Given the description of an element on the screen output the (x, y) to click on. 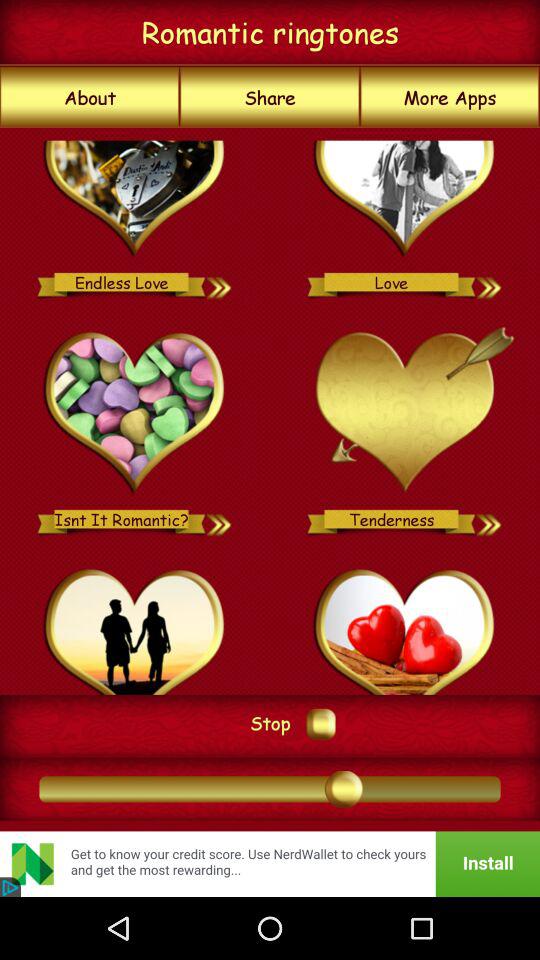
press icon next to the about (270, 97)
